Given the description of an element on the screen output the (x, y) to click on. 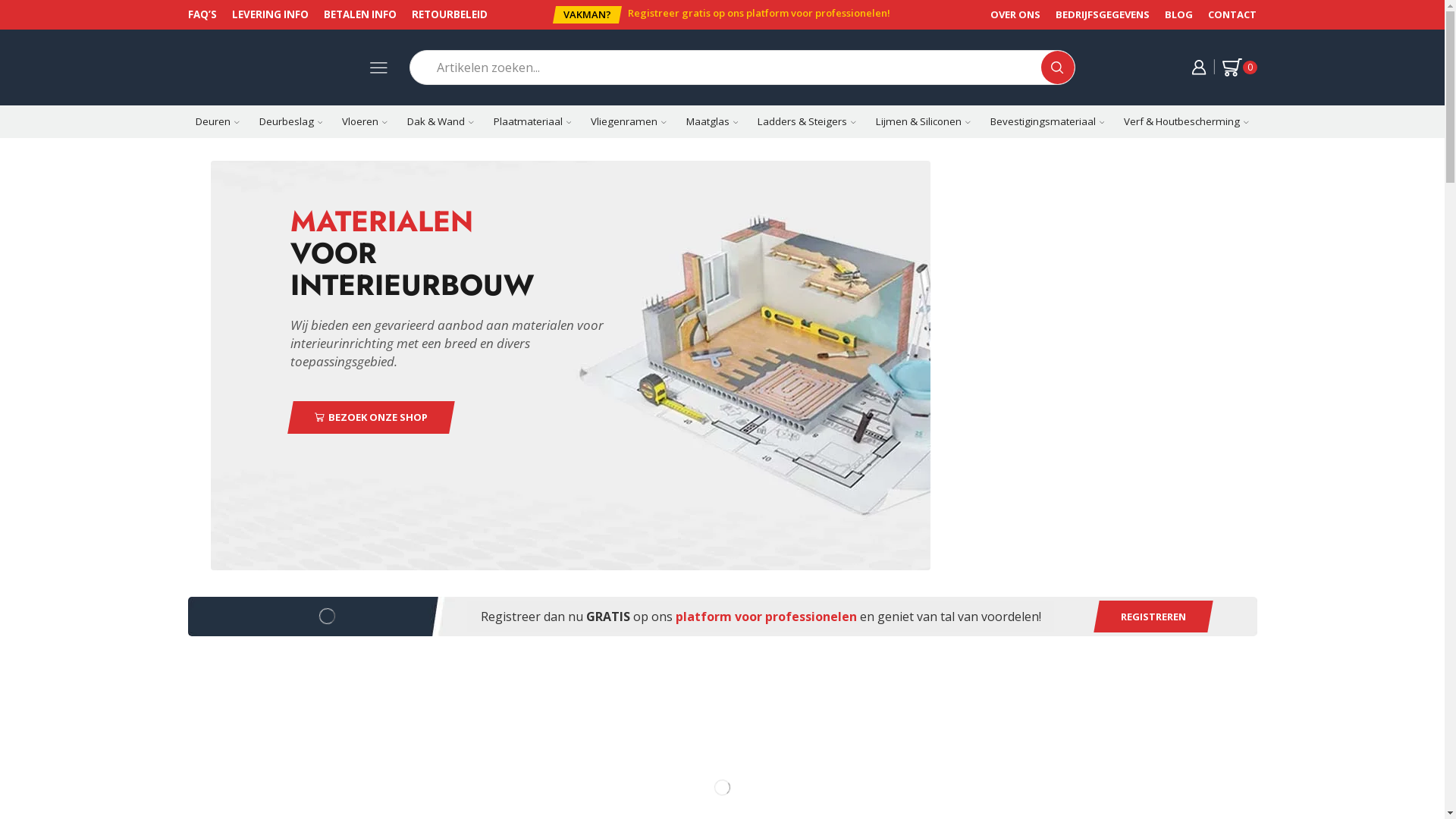
Lijmen & Siliconen Element type: text (922, 121)
RETOURBELEID Element type: text (448, 14)
Vloeren Element type: text (364, 121)
VAKMAN? Element type: text (585, 14)
REGISTREREN Element type: text (1150, 616)
BETALEN INFO Element type: text (359, 14)
BEZOEK ONZE SHOP Element type: text (367, 417)
Verf & Houtbescherming Element type: text (1185, 121)
BLOG Element type: text (1186, 14)
0 Element type: text (1239, 67)
OVER ONS Element type: text (1019, 14)
Registreer gratis op ons platform voor professionelen! Element type: text (758, 12)
Plaatmateriaal Element type: text (532, 121)
BEDRIJFSGEGEVENS Element type: text (1109, 14)
Ladders & Steigers Element type: text (806, 121)
LEVERING INFO Element type: text (270, 14)
Bevestigingsmateriaal Element type: text (1047, 121)
Vliegenramen Element type: text (628, 121)
Deurbeslag Element type: text (291, 121)
Maatglas Element type: text (712, 121)
Dak & Wand Element type: text (440, 121)
CONTACT Element type: text (1236, 14)
Deuren Element type: text (217, 121)
